Given the description of an element on the screen output the (x, y) to click on. 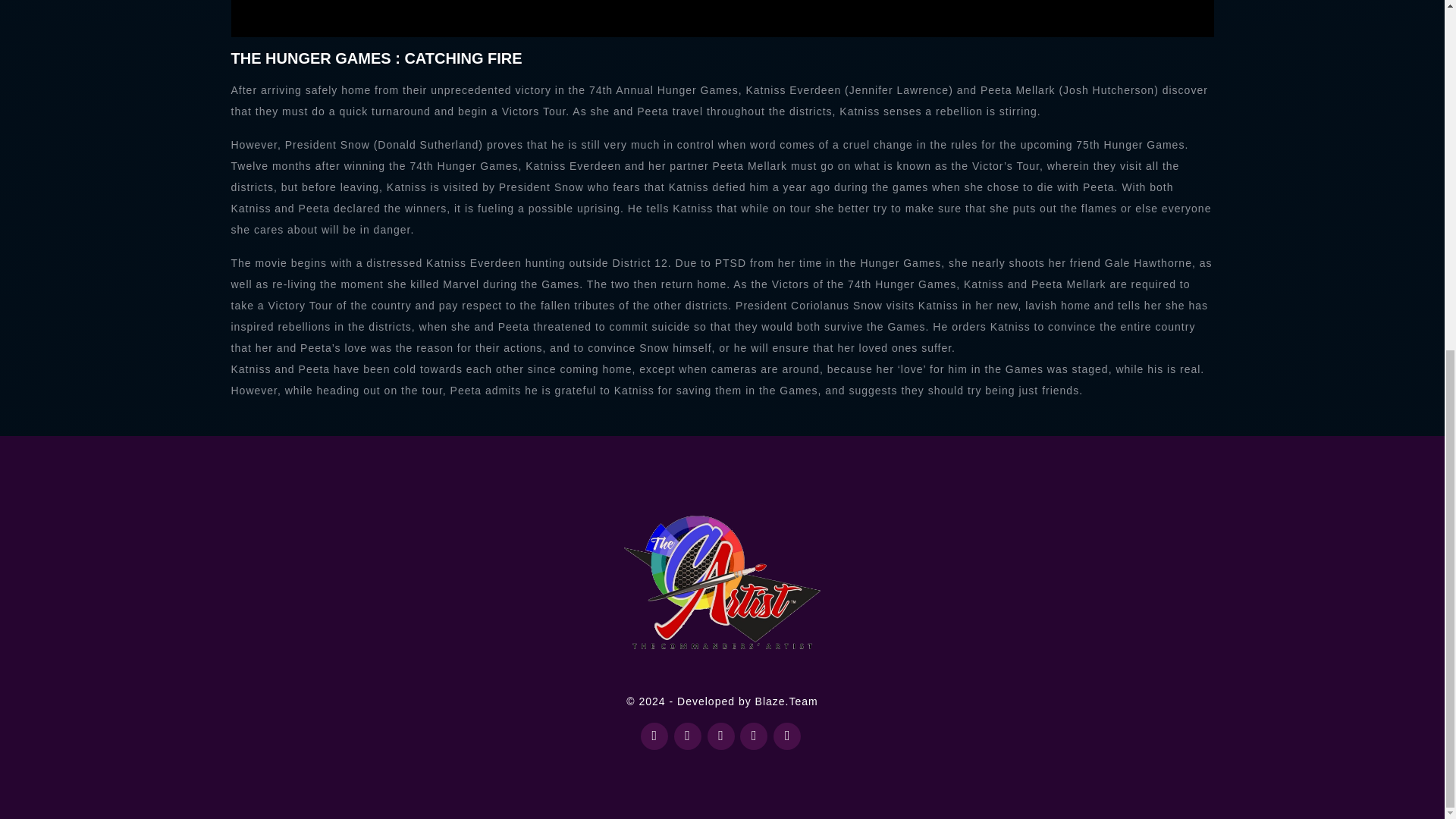
Blaze.Team (786, 701)
